Given the description of an element on the screen output the (x, y) to click on. 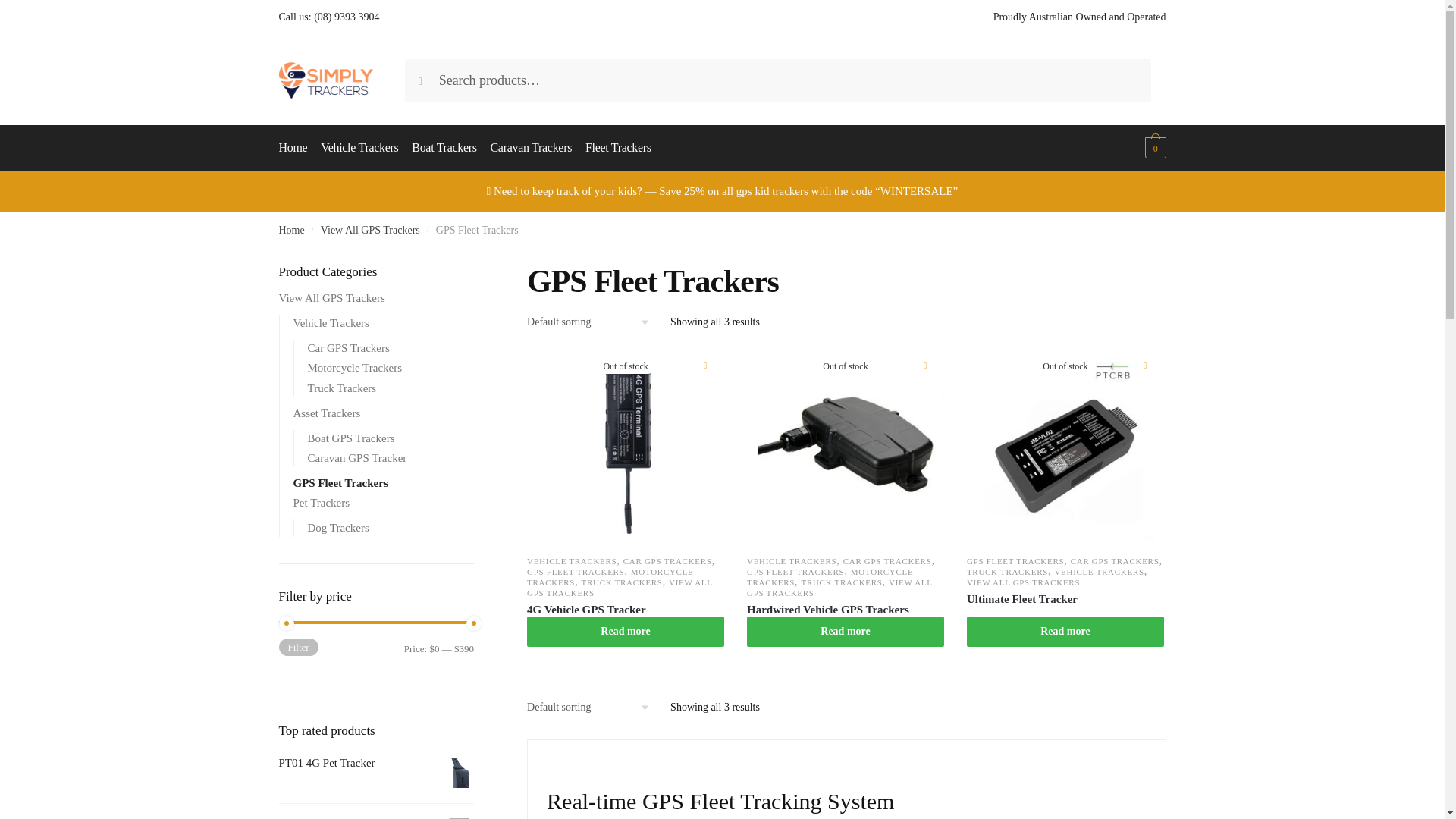
Hardwired Vehicle GPS Trackers (844, 609)
VEHICLE TRACKERS (571, 560)
MOTORCYCLE TRACKERS (610, 577)
Search (434, 73)
TRUCK TRACKERS (621, 582)
CAR GPS TRACKERS (887, 560)
Browse wishlist (925, 363)
4G Vehicle GPS Tracker (625, 609)
Out of stock (1064, 443)
View All GPS Trackers (370, 229)
